Given the description of an element on the screen output the (x, y) to click on. 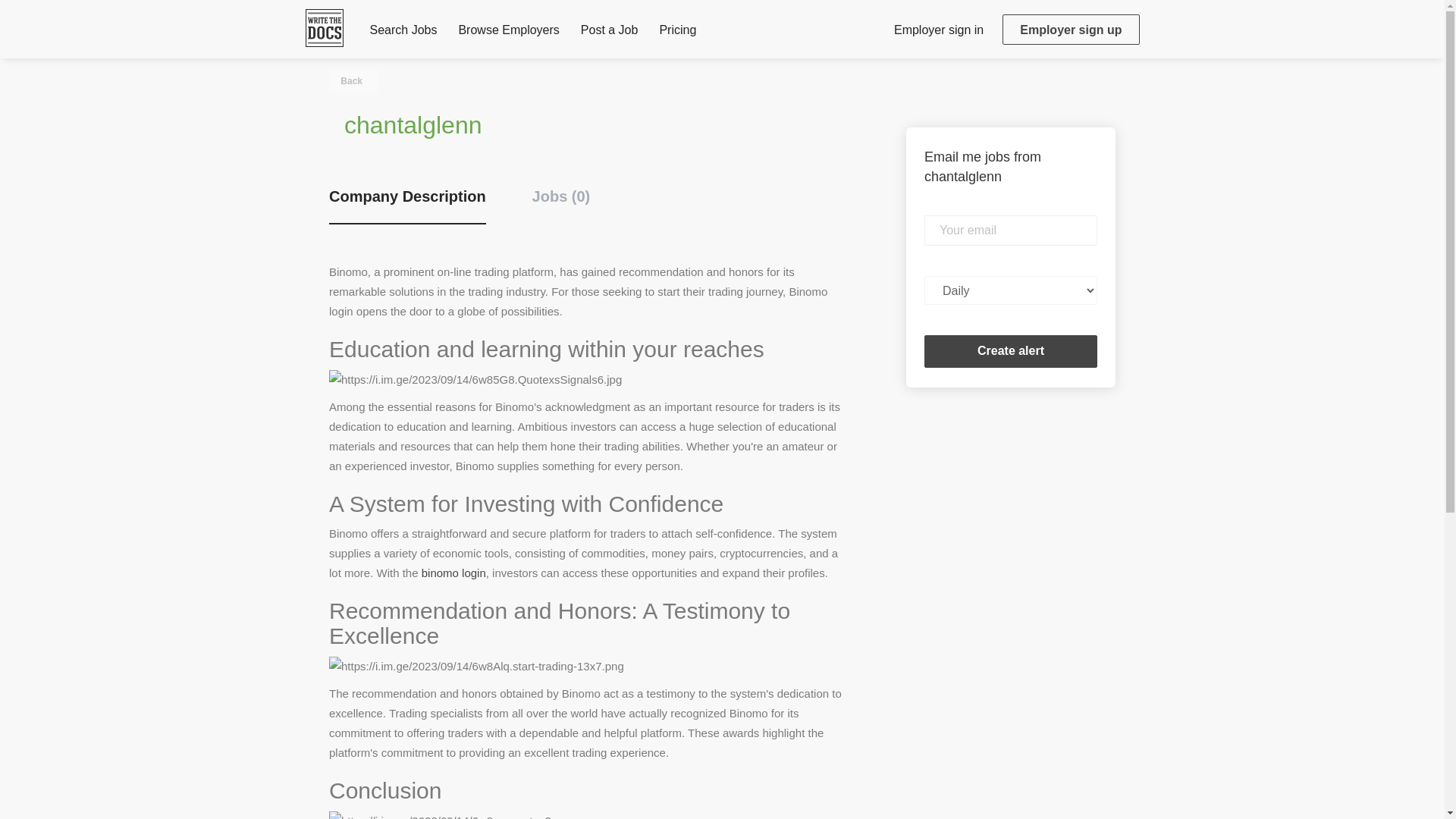
Employer sign in (938, 28)
Search Jobs (403, 32)
Create alert (1010, 350)
Company Description (407, 204)
Browse Employers (508, 32)
Pricing (677, 32)
Post a Job (609, 32)
binomo login (454, 572)
Employer sign up (1070, 29)
Back (353, 80)
Create alert (1010, 350)
